Given the description of an element on the screen output the (x, y) to click on. 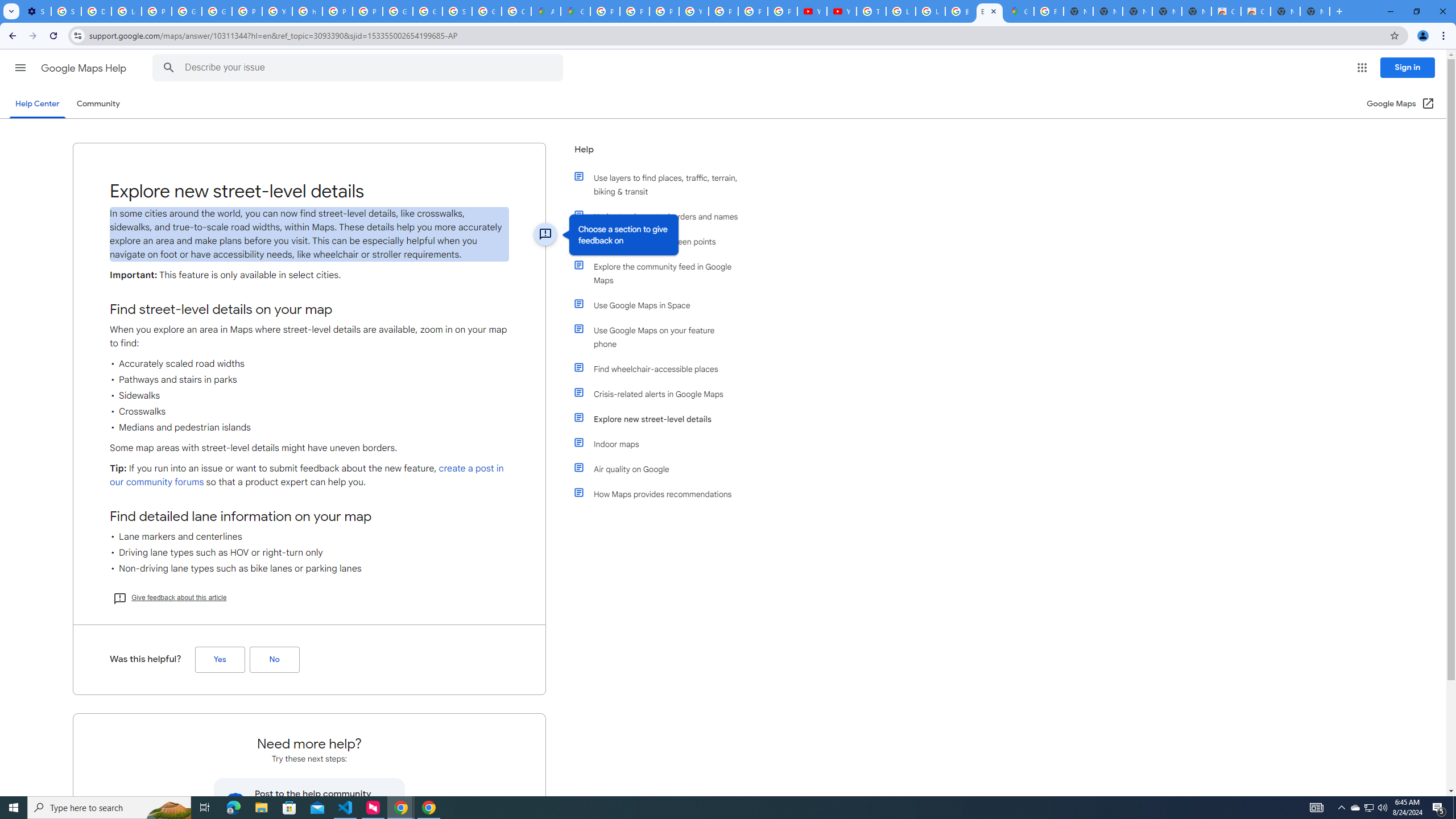
Privacy Help Center - Policies Help (664, 11)
Lane markers and centerlines (309, 536)
Yes (Was this helpful?) (219, 660)
New Tab (1314, 11)
Describe your issue (359, 67)
Use Google Maps on your feature phone (661, 336)
Understand country borders and names (661, 216)
Privacy Checkup (782, 11)
